Given the description of an element on the screen output the (x, y) to click on. 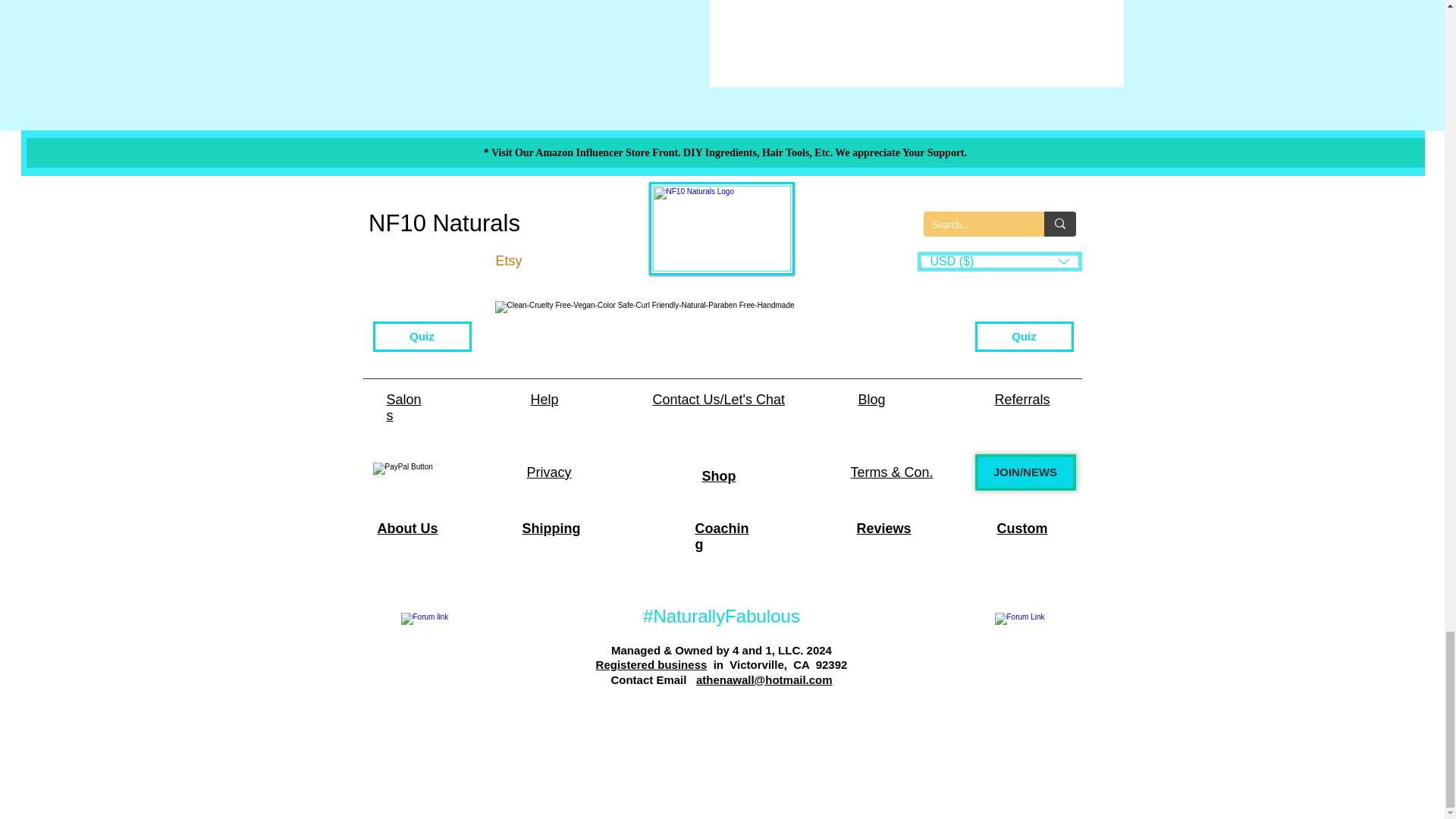
Handcrafted Custom Natural Care (721, 228)
